Given the description of an element on the screen output the (x, y) to click on. 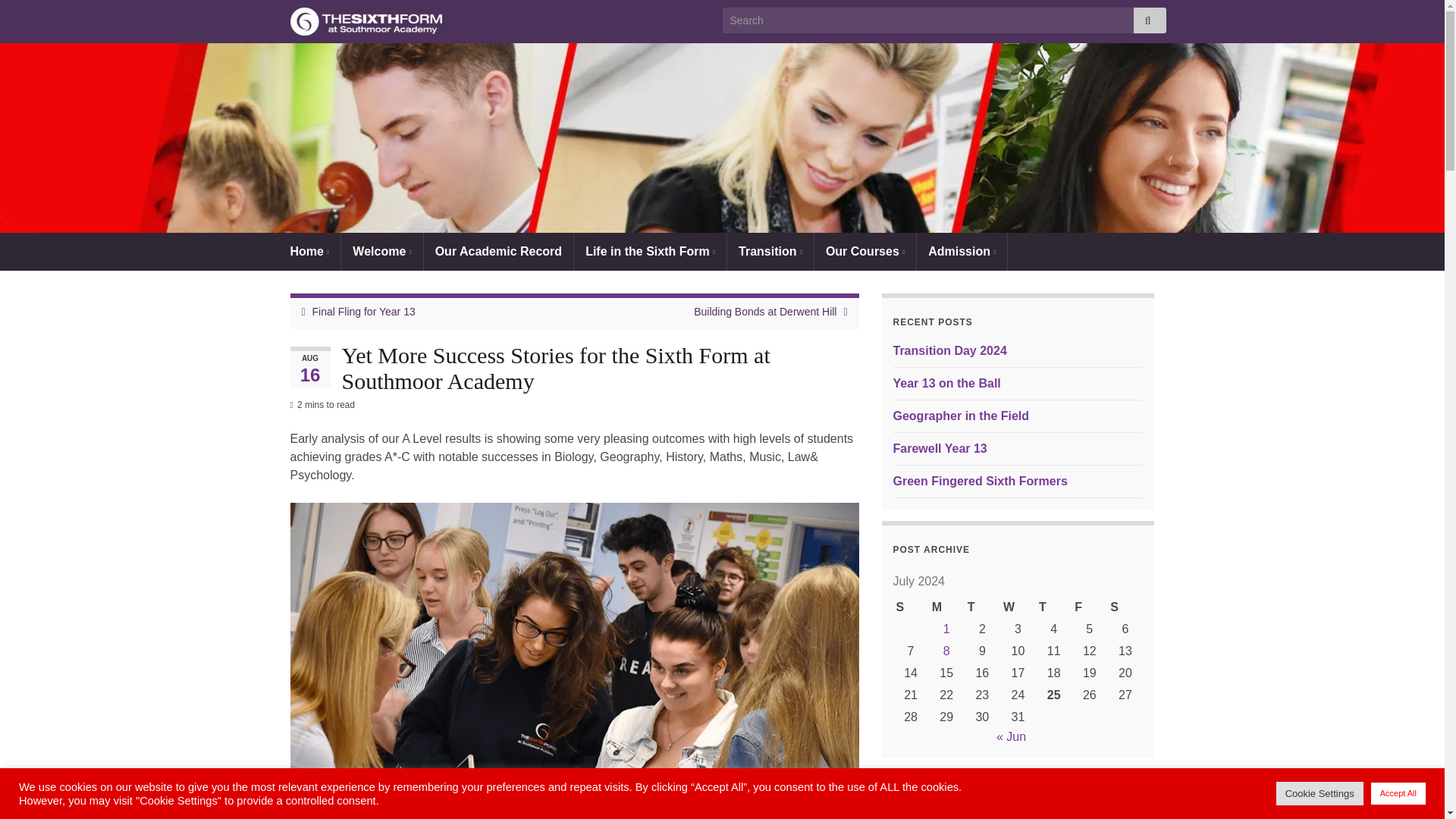
Our Courses (864, 251)
Wednesday (1017, 608)
Transition Day 2024 (950, 350)
Final Fling for Year 13 (363, 311)
Sunday (910, 608)
Farewell Year 13 (940, 448)
Monday (945, 608)
Admission (962, 251)
Green Fingered Sixth Formers (980, 481)
Home (309, 251)
Friday (1088, 608)
Year 13 on the Ball (947, 382)
Accept All (1398, 793)
Tuesday (981, 608)
Life in the Sixth Form (649, 251)
